Given the description of an element on the screen output the (x, y) to click on. 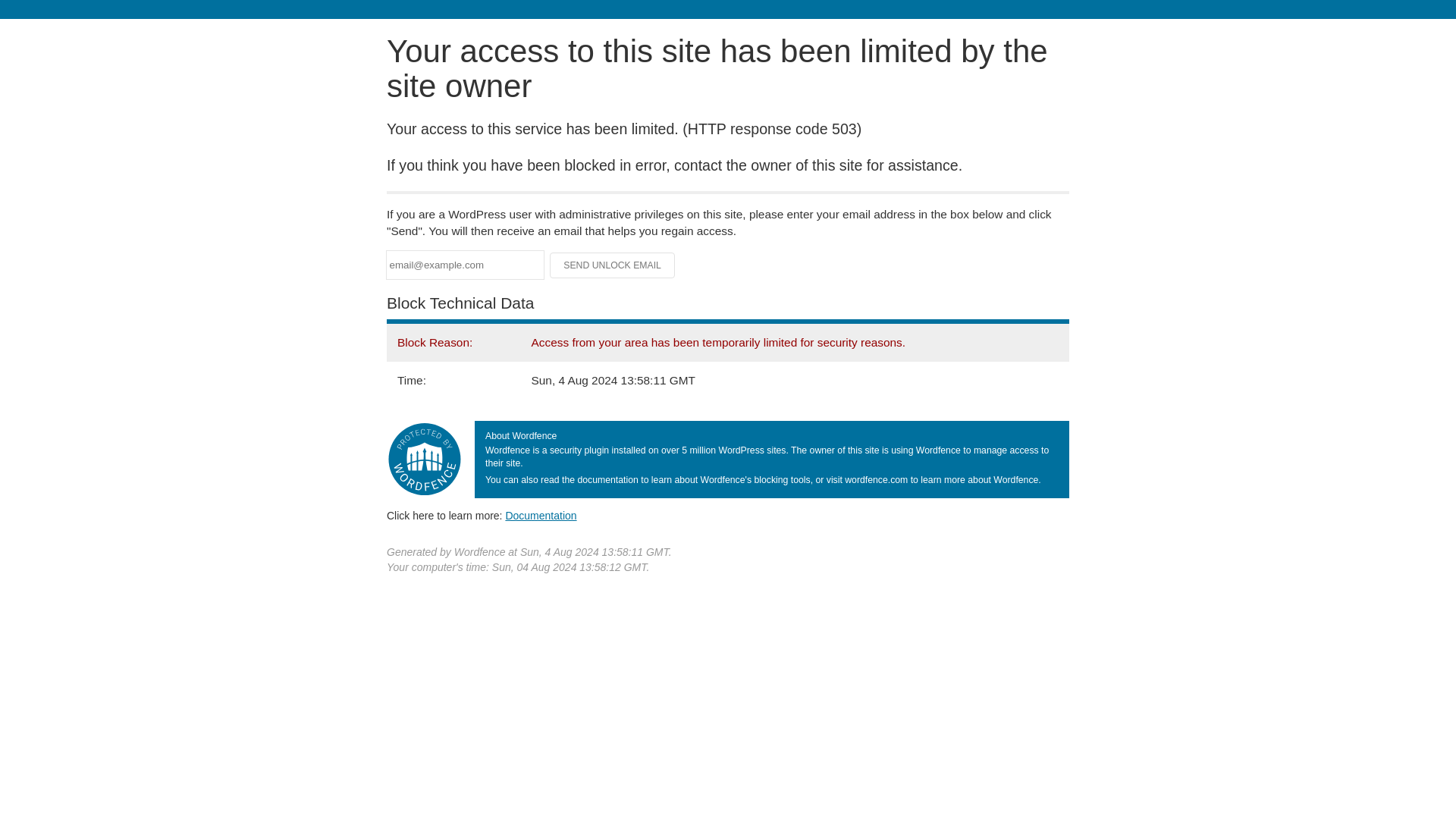
Send Unlock Email (612, 265)
Send Unlock Email (612, 265)
Documentation (540, 515)
